Given the description of an element on the screen output the (x, y) to click on. 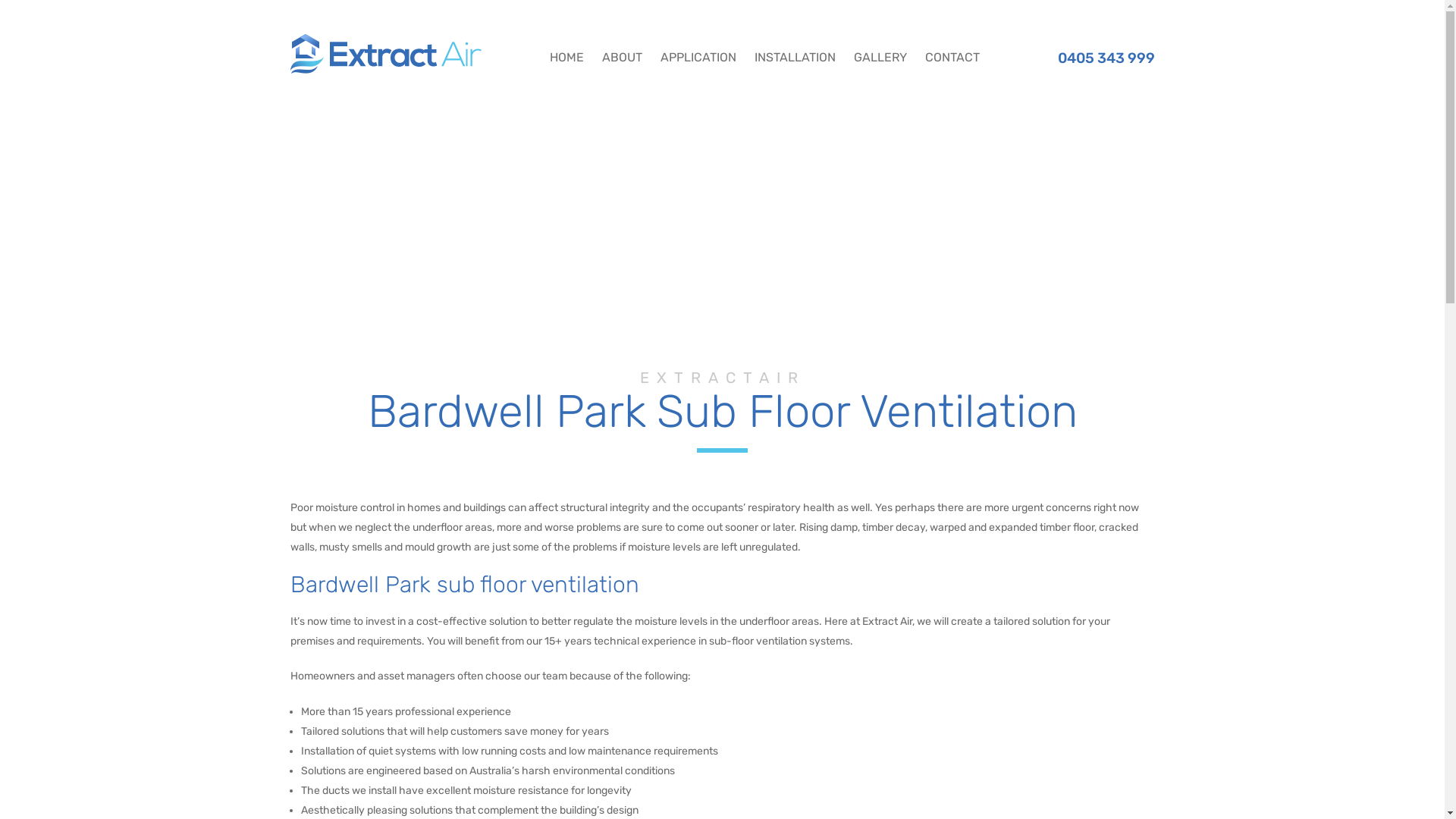
GALLERY Element type: text (880, 53)
0405 343 999 Element type: text (1094, 57)
APPLICATION Element type: text (697, 53)
ABOUT Element type: text (621, 53)
CONTACT Element type: text (948, 53)
HOME Element type: text (569, 53)
INSTALLATION Element type: text (794, 53)
